Given the description of an element on the screen output the (x, y) to click on. 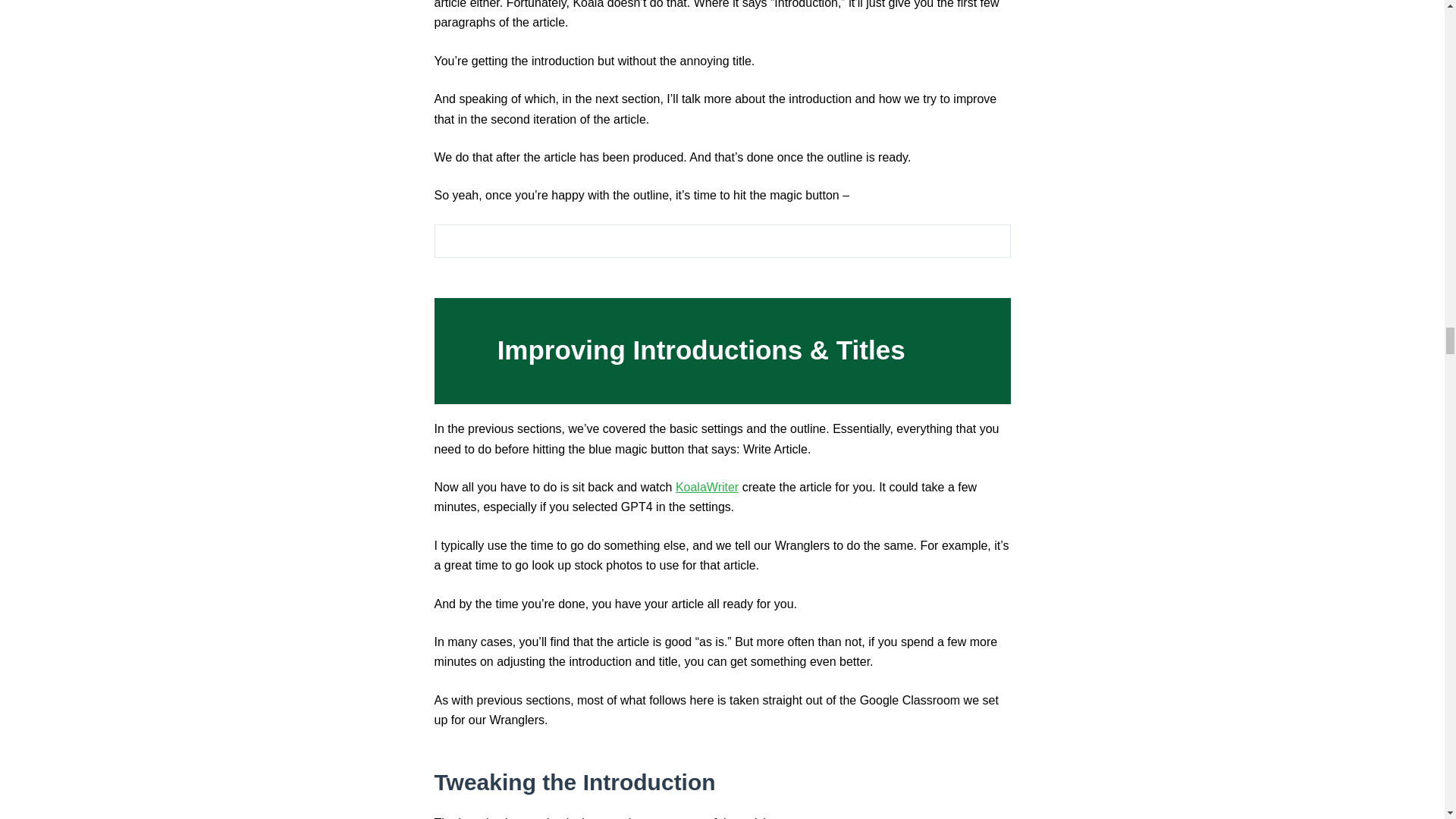
KoalaWriter (706, 486)
